Given the description of an element on the screen output the (x, y) to click on. 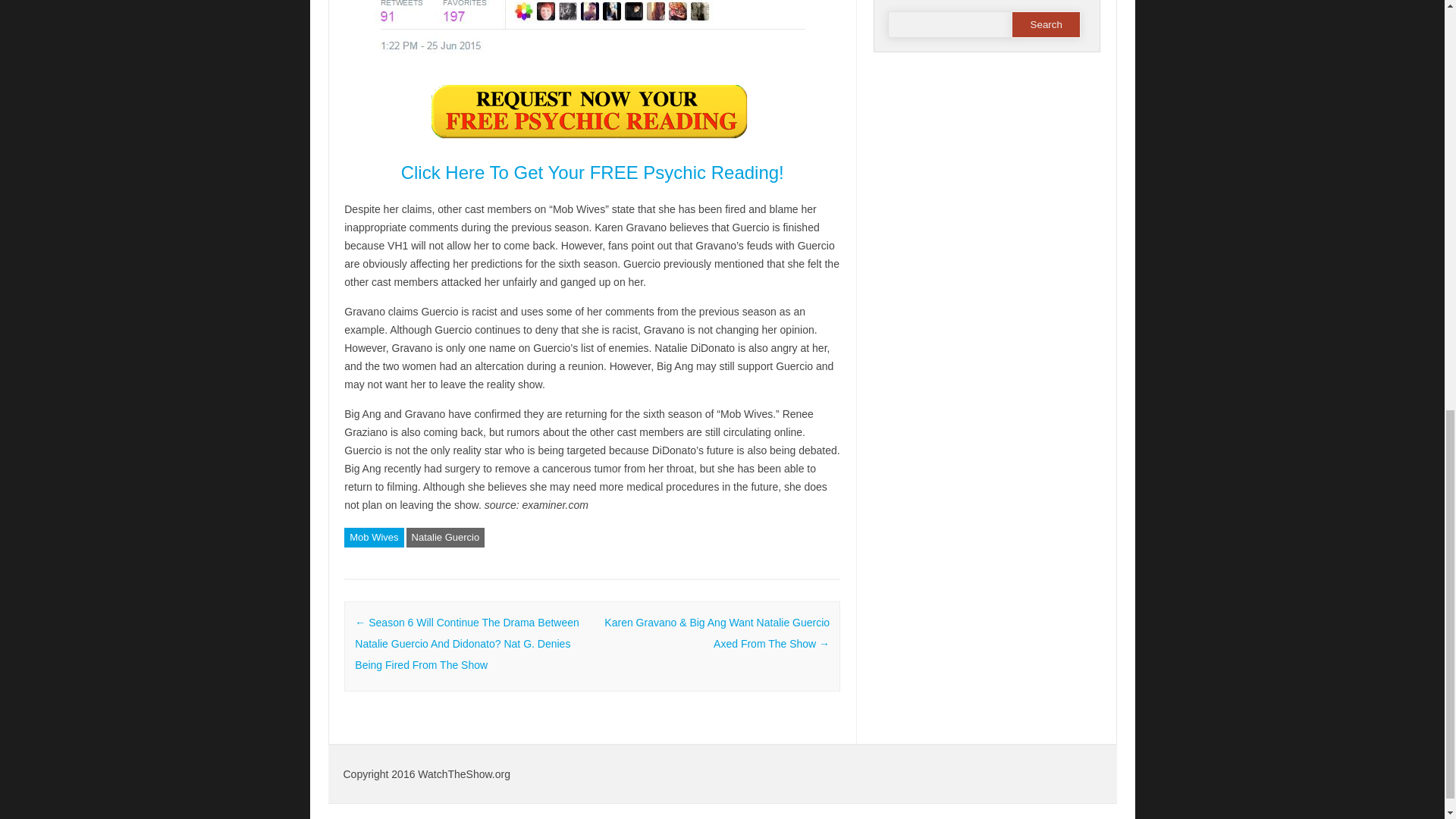
Natalie Guercio (445, 537)
Search (1045, 24)
Mob Wives (373, 537)
Click Here To Get Your FREE Psychic Reading! (592, 172)
Search (1045, 24)
